Given the description of an element on the screen output the (x, y) to click on. 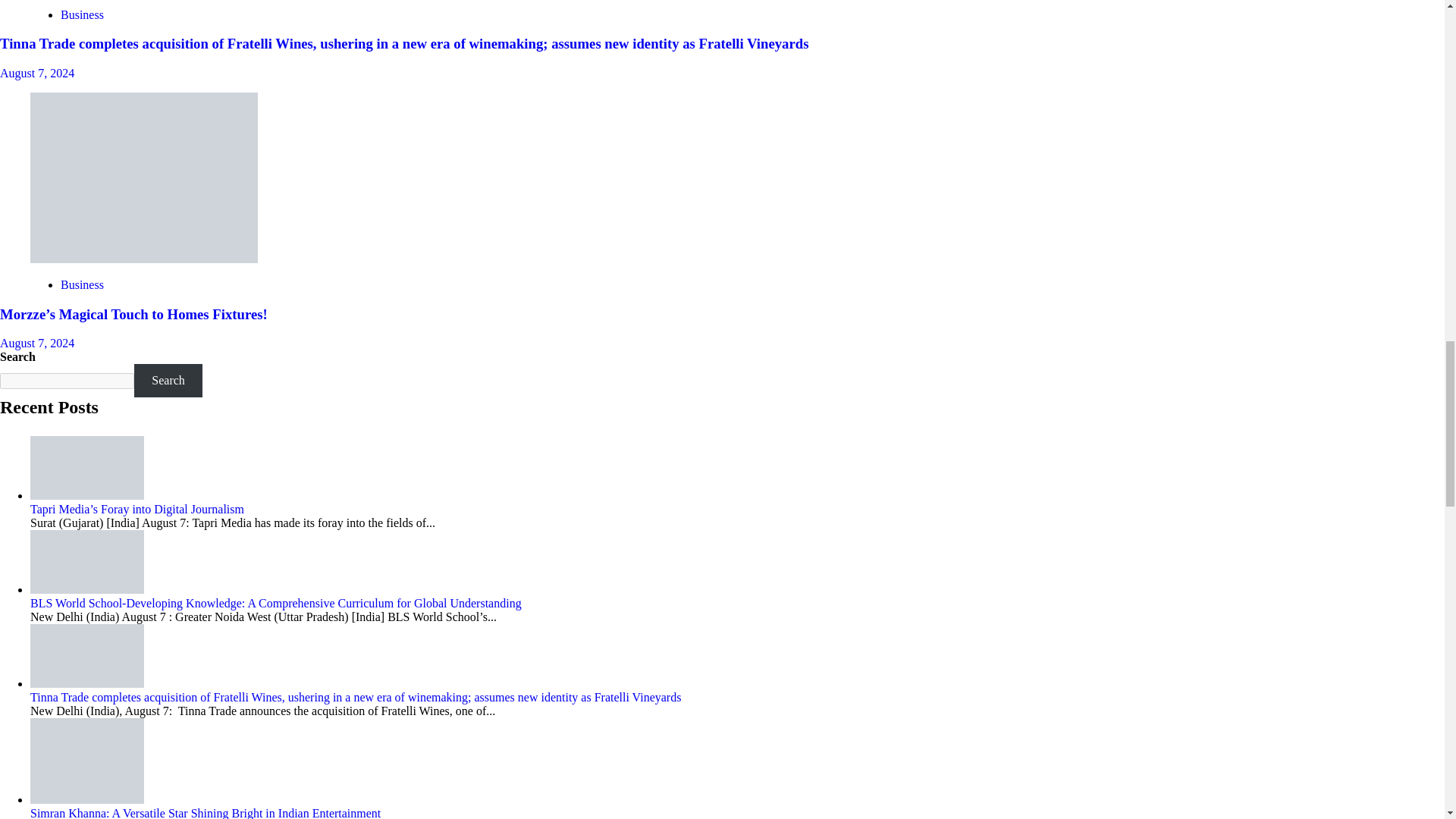
Business (82, 13)
August 7, 2024 (37, 72)
